Given the description of an element on the screen output the (x, y) to click on. 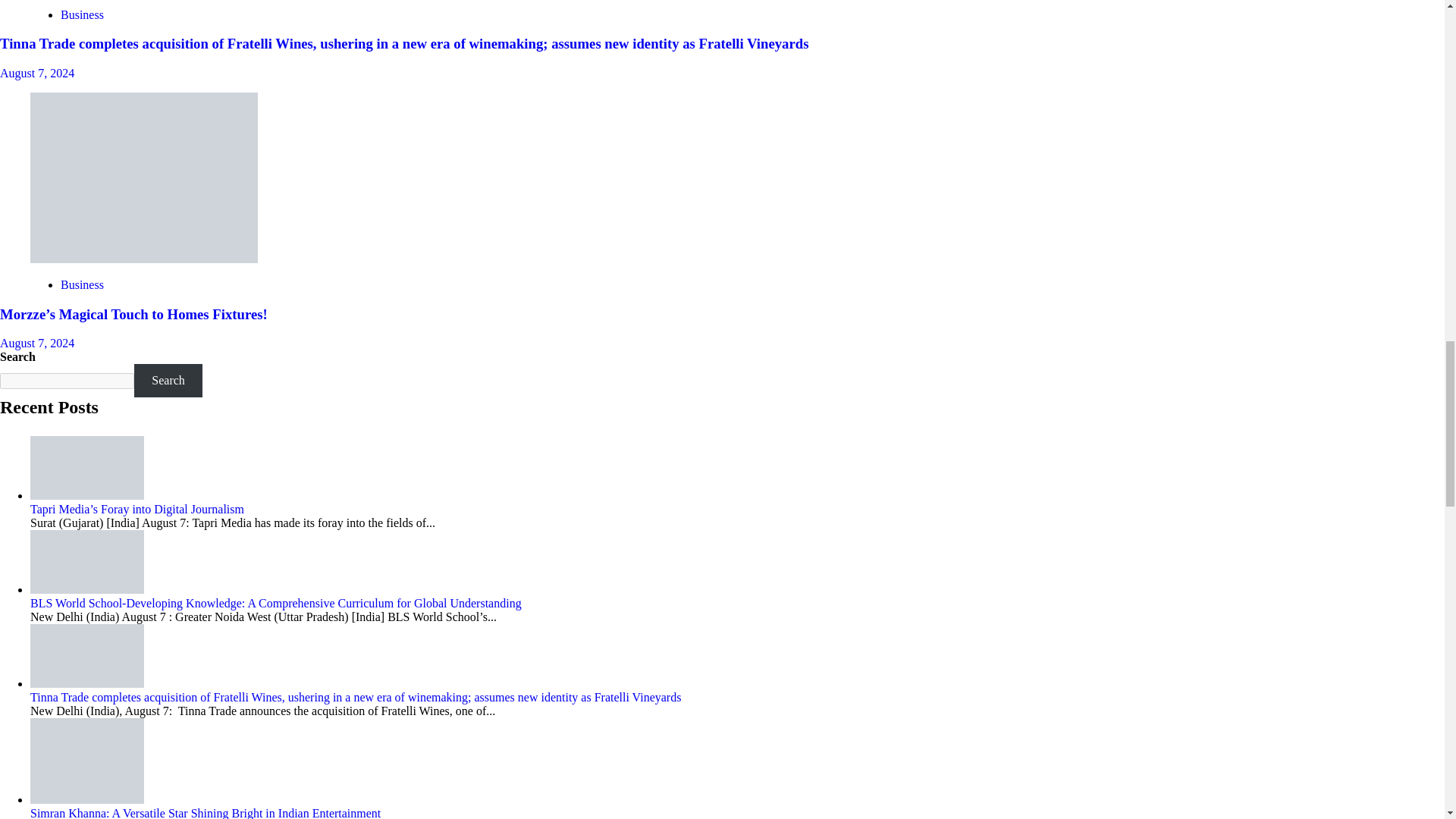
Business (82, 13)
August 7, 2024 (37, 72)
